Given the description of an element on the screen output the (x, y) to click on. 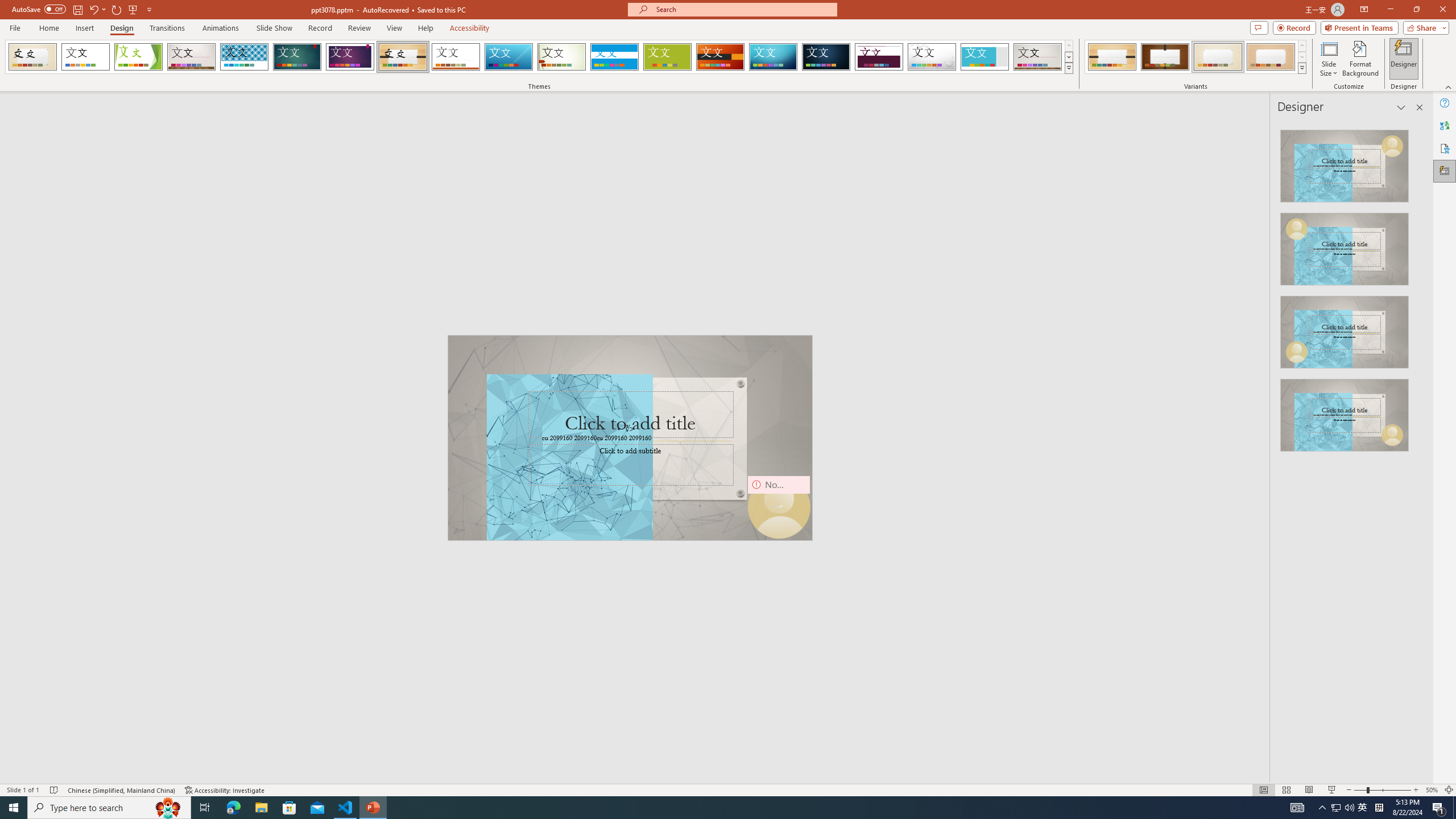
Dividend (879, 56)
AutomationID: ThemeVariantsGallery (1195, 56)
Damask (826, 56)
Slide Size (1328, 58)
Berlin (720, 56)
Wisp (561, 56)
